Given the description of an element on the screen output the (x, y) to click on. 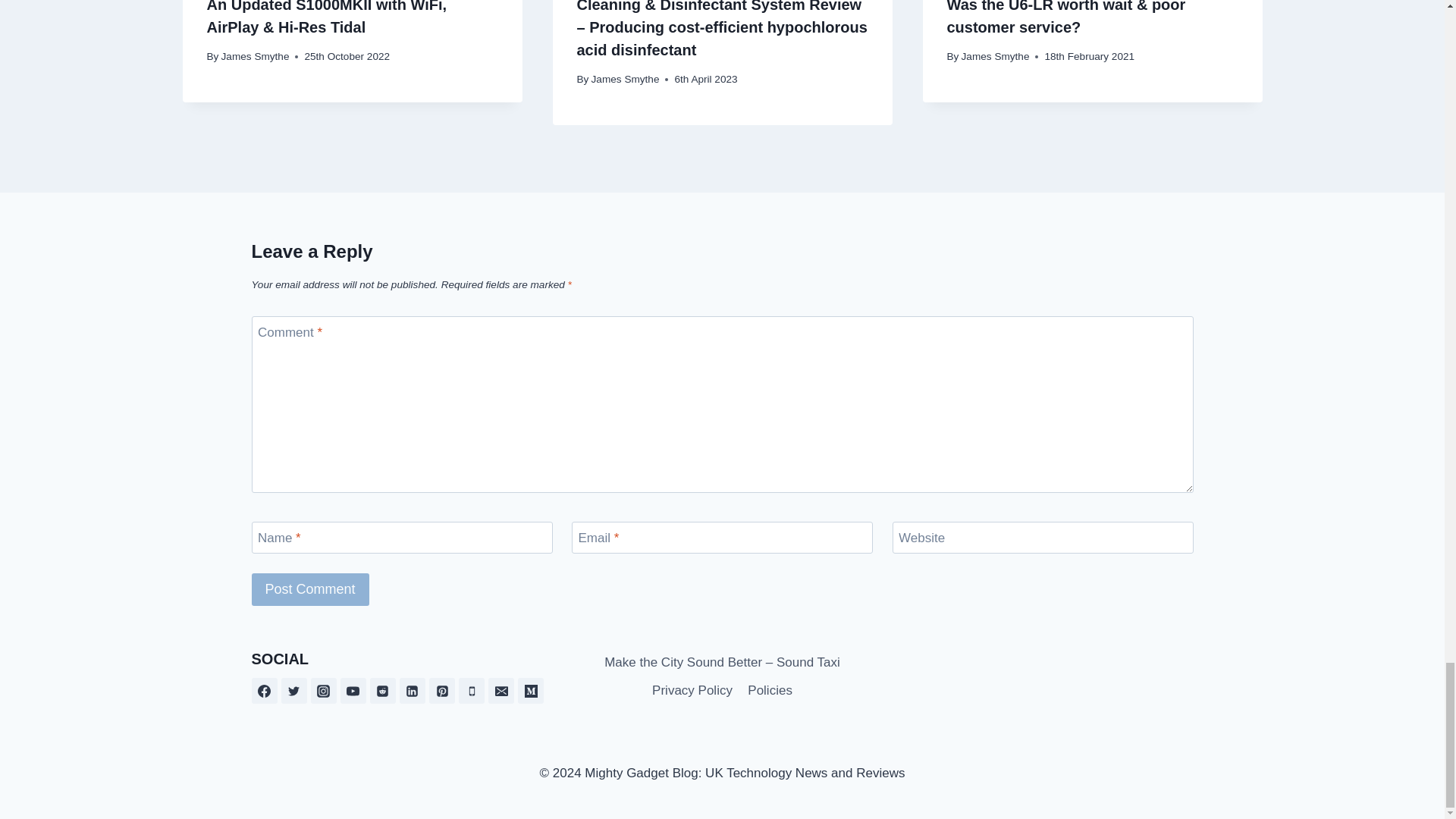
Post Comment (310, 589)
